Given the description of an element on the screen output the (x, y) to click on. 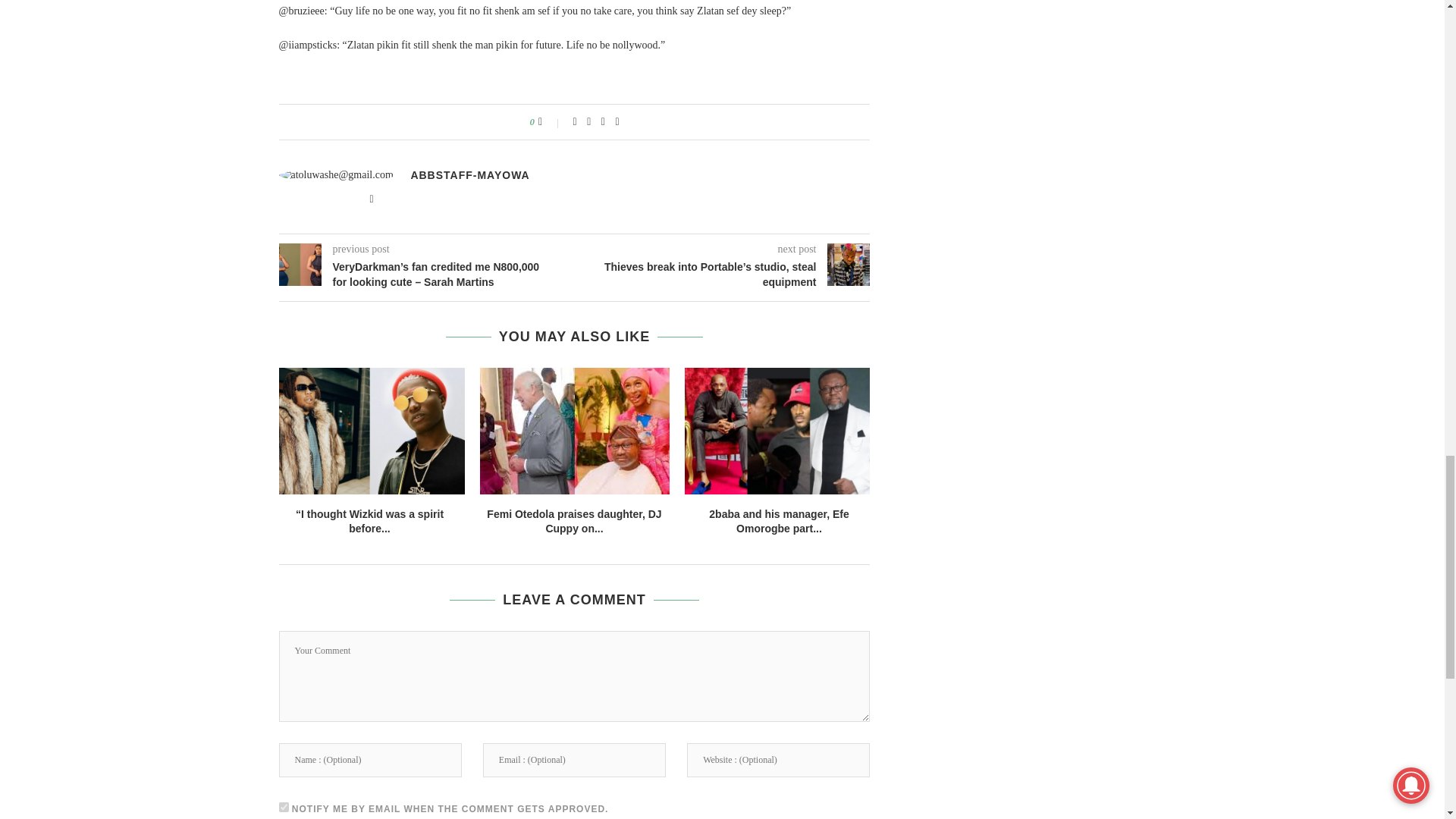
Posts by ABBStaff-Mayowa (469, 174)
1 (283, 807)
Like (550, 121)
